Given the description of an element on the screen output the (x, y) to click on. 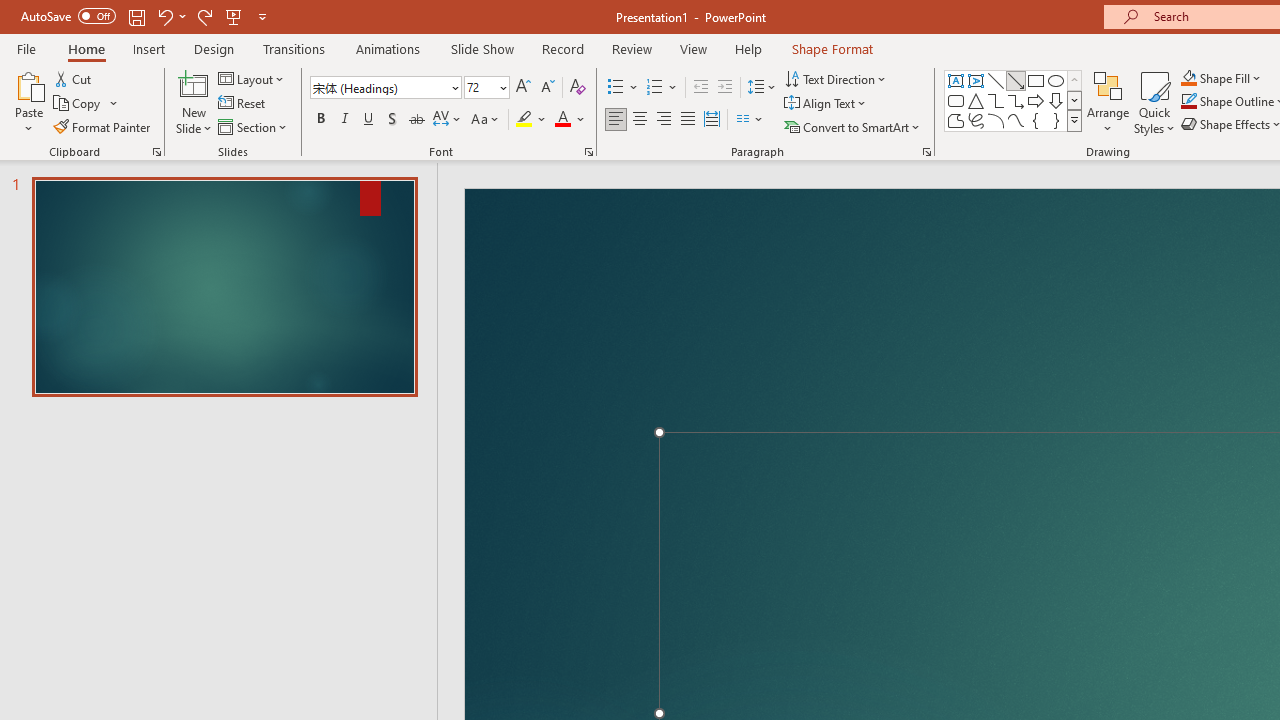
Section (254, 126)
Align Text (826, 103)
Shape Fill Orange, Accent 2 (1188, 78)
Columns (750, 119)
Arrow: Down (1055, 100)
Shape Format (832, 48)
Font Size (486, 87)
Quick Styles (1154, 102)
Curve (1016, 120)
